Given the description of an element on the screen output the (x, y) to click on. 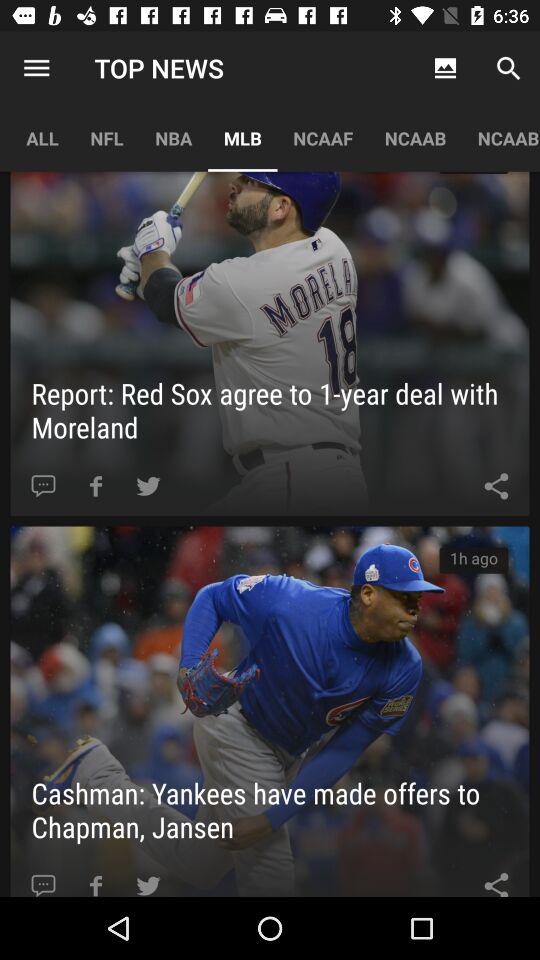
open icon to the left of the ncaab app (323, 138)
